Given the description of an element on the screen output the (x, y) to click on. 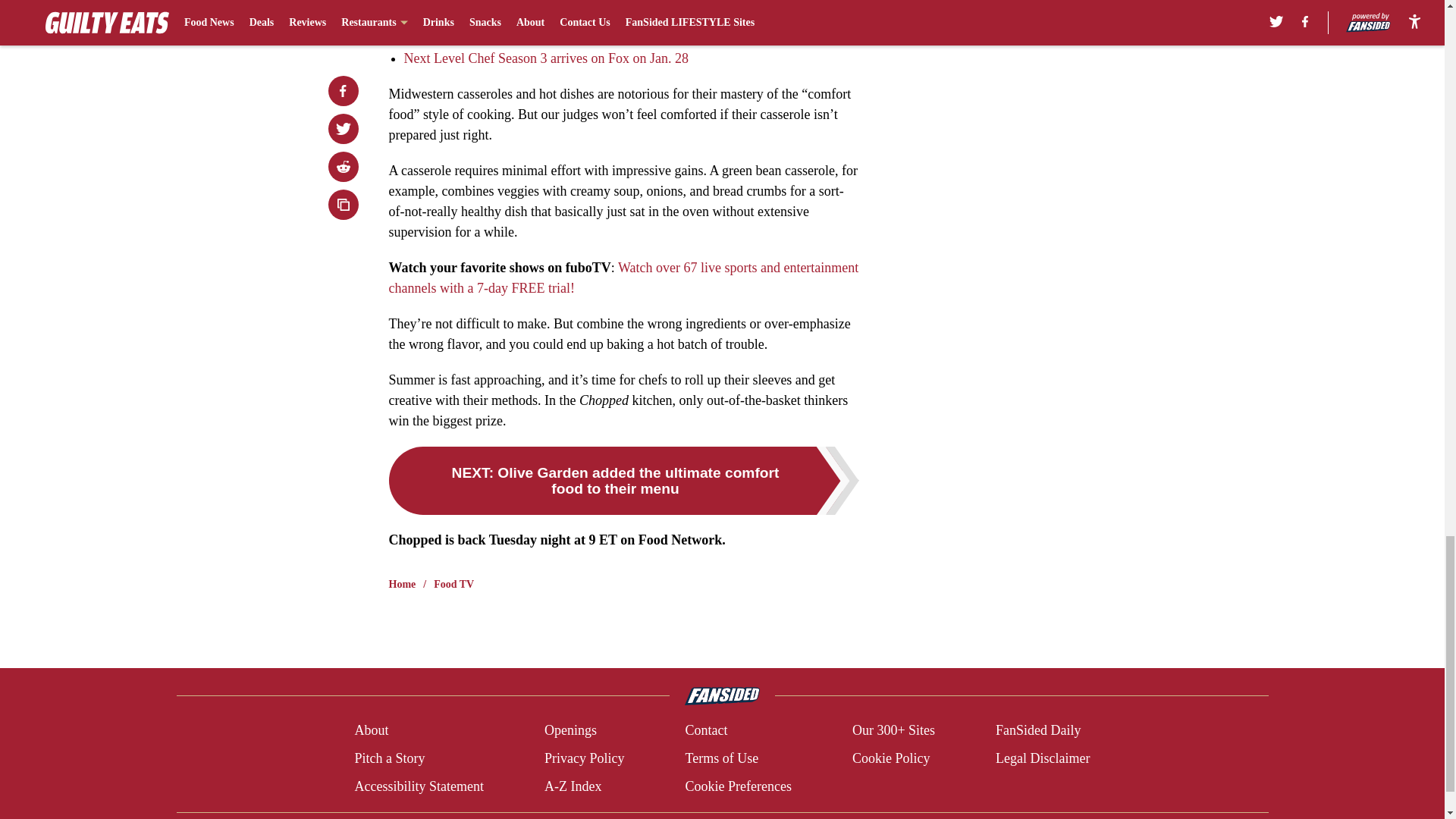
FanSided Daily (1038, 730)
Next Level Chef Season 3 arrives on Fox on Jan. 28 (545, 58)
About (370, 730)
Home (401, 584)
Food TV (453, 584)
Privacy Policy (584, 758)
Pitch a Story (389, 758)
